Given the description of an element on the screen output the (x, y) to click on. 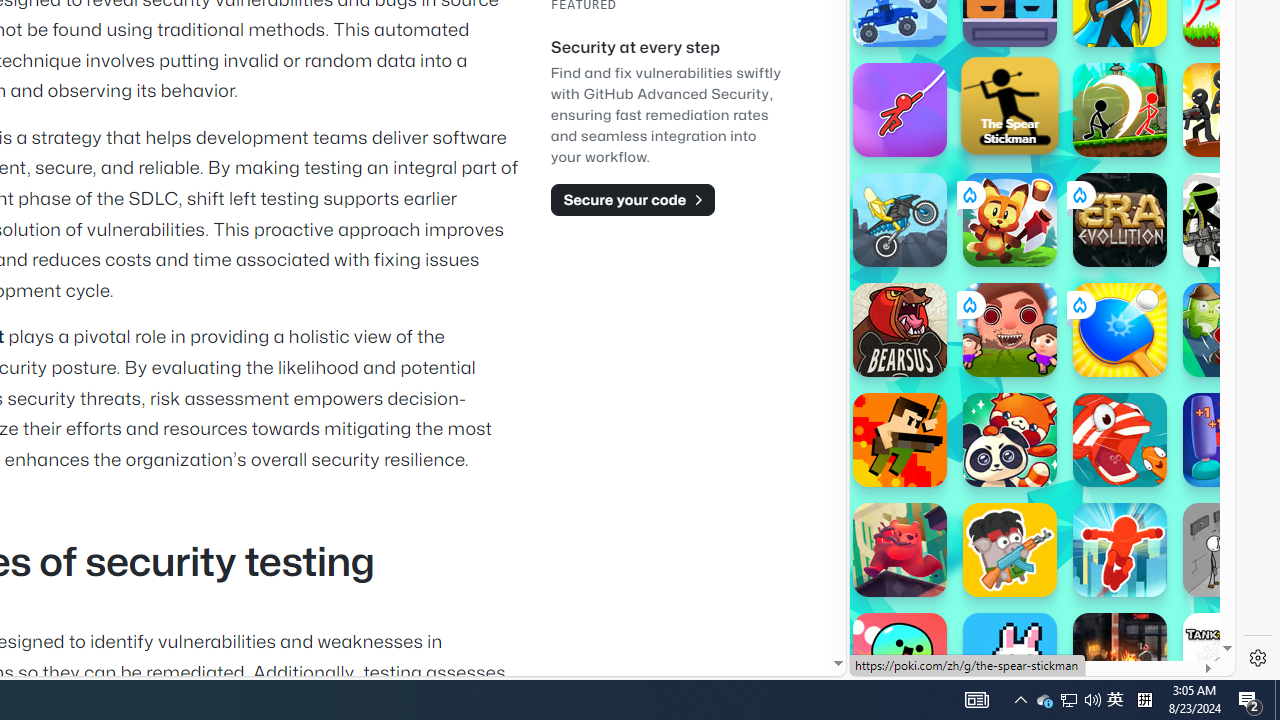
Tag 2 (1229, 329)
Click to scroll right (1196, 247)
Stickman Archero Fight (1119, 109)
Hills of Steel Hills of Steel poki.com (943, 245)
Eat the world Eat the world (1009, 329)
Earth's Greatest Defender (899, 439)
Stickman Hook (899, 109)
The Spear Stickman The Spear Stickman (1009, 105)
Fish Eat Fish (1119, 439)
Stickman Hook Stickman Hook (899, 109)
Parkour Race Parkour Race (1119, 549)
Joyrider Joyrider (899, 219)
Fox Island Builder (1009, 219)
Fox Island Builder Fox Island Builder (1009, 219)
Poki (1034, 606)
